Given the description of an element on the screen output the (x, y) to click on. 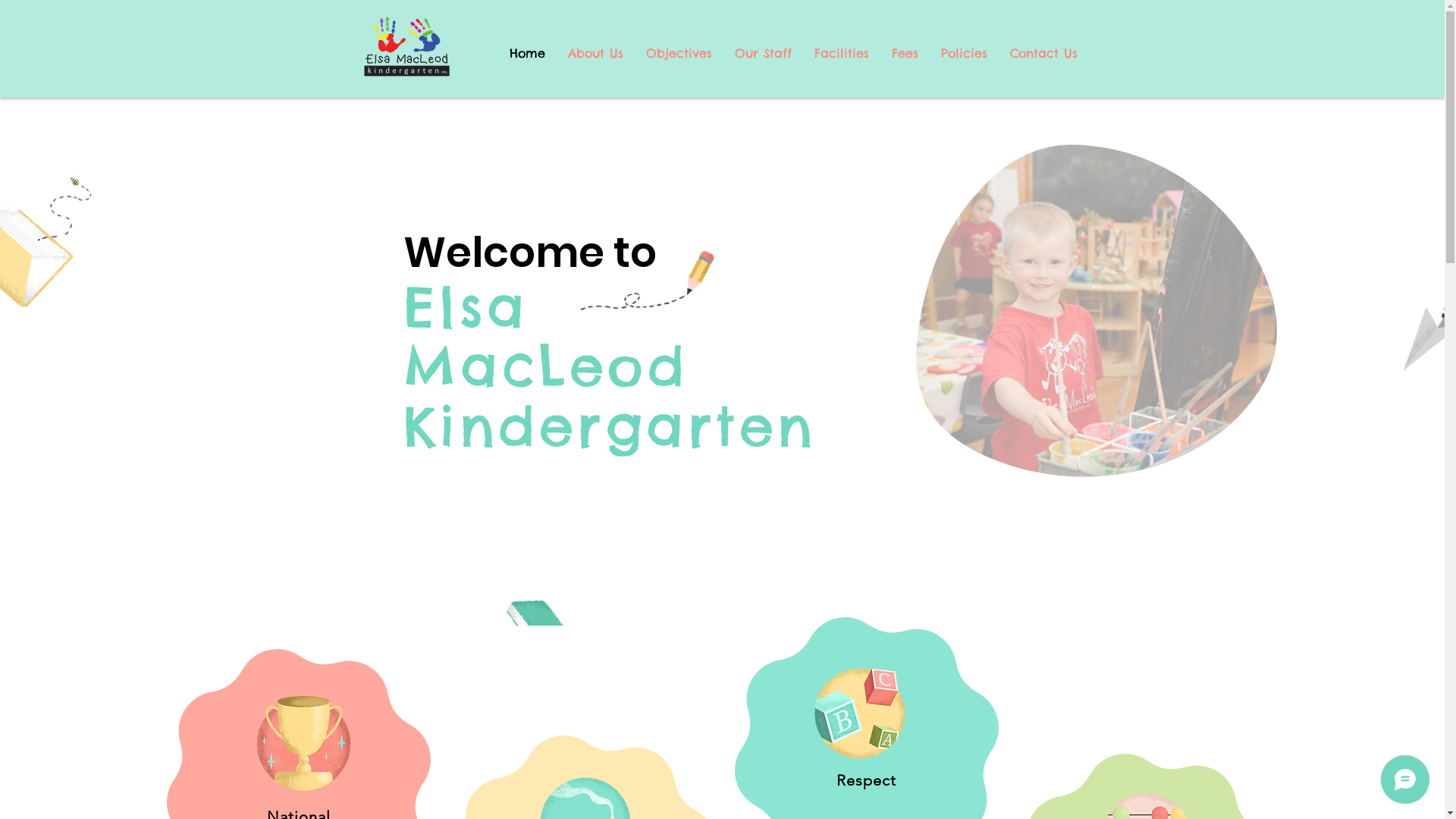
Fees Element type: text (903, 53)
Contact Us Element type: text (1042, 53)
Policies Element type: text (963, 53)
Our Staff Element type: text (763, 53)
Home Element type: text (526, 53)
About Us Element type: text (595, 53)
Objectives Element type: text (677, 53)
Facilities Element type: text (840, 53)
